Given the description of an element on the screen output the (x, y) to click on. 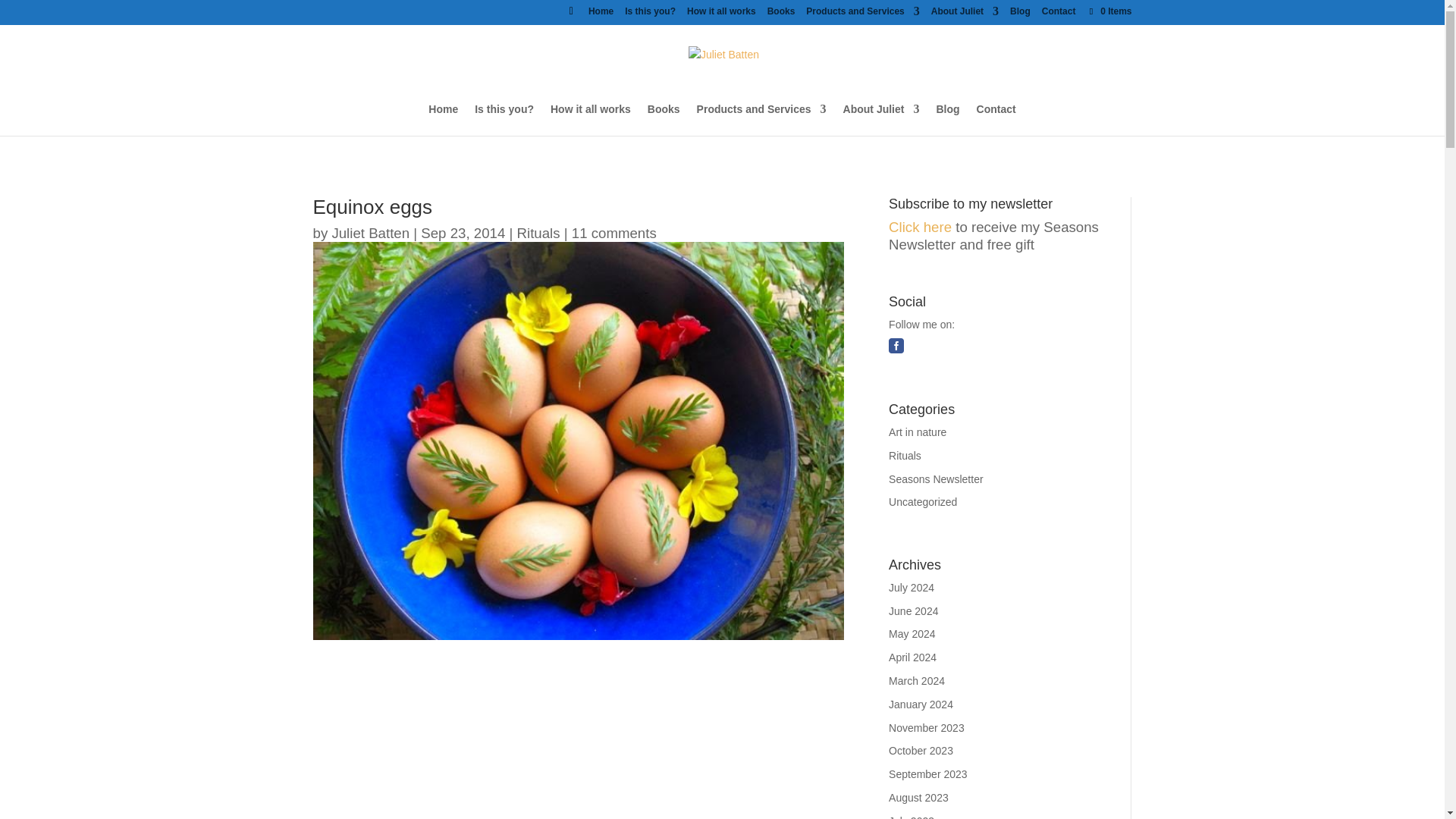
Rituals (538, 232)
11 comments (614, 232)
How it all works (590, 119)
Products and Services (862, 14)
Posts by Juliet Batten (370, 232)
About Juliet (881, 119)
0 Items (1108, 10)
About Juliet (964, 14)
Products and Services (762, 119)
